Given the description of an element on the screen output the (x, y) to click on. 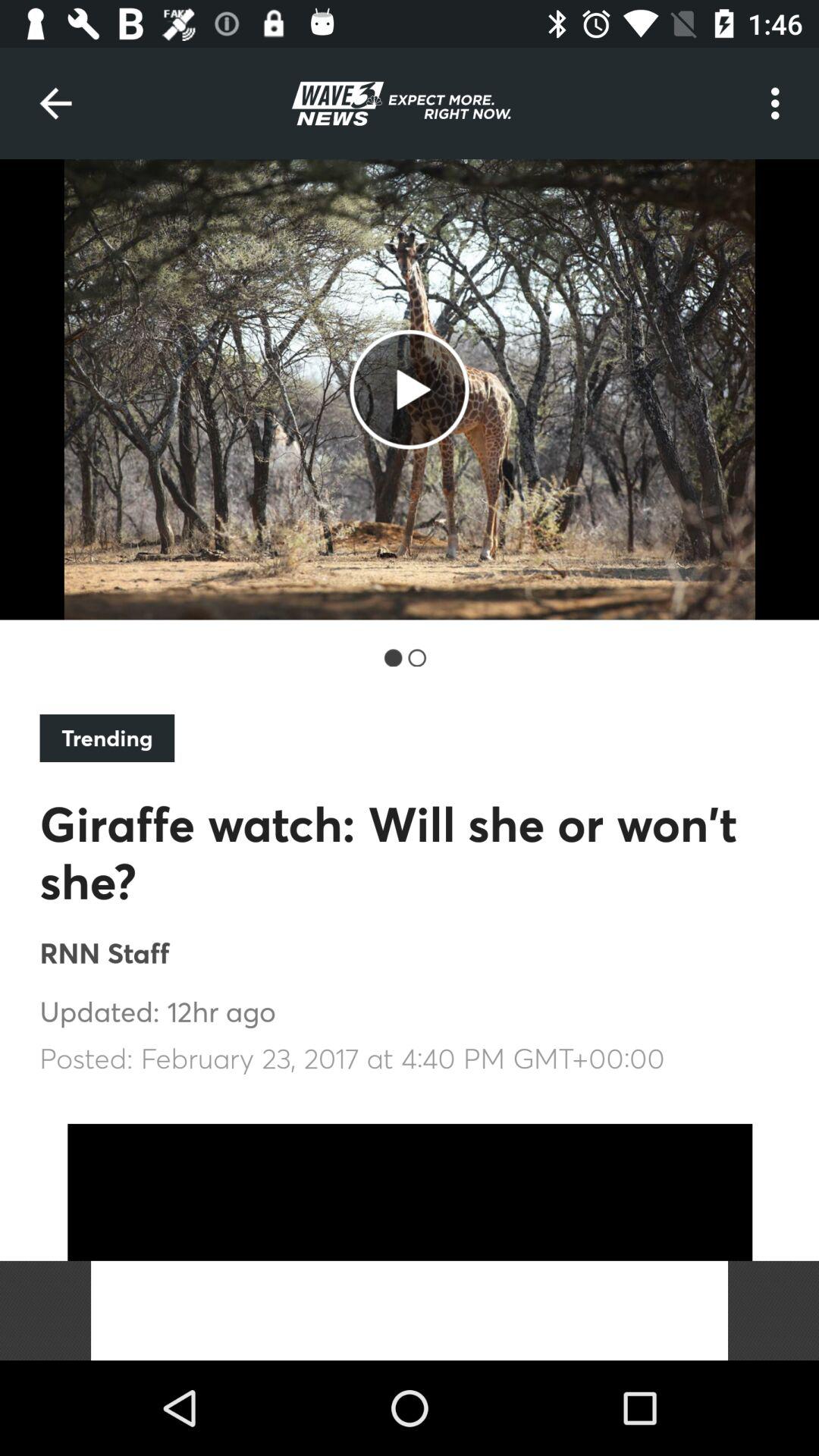
tap item at the top right corner (779, 103)
